Given the description of an element on the screen output the (x, y) to click on. 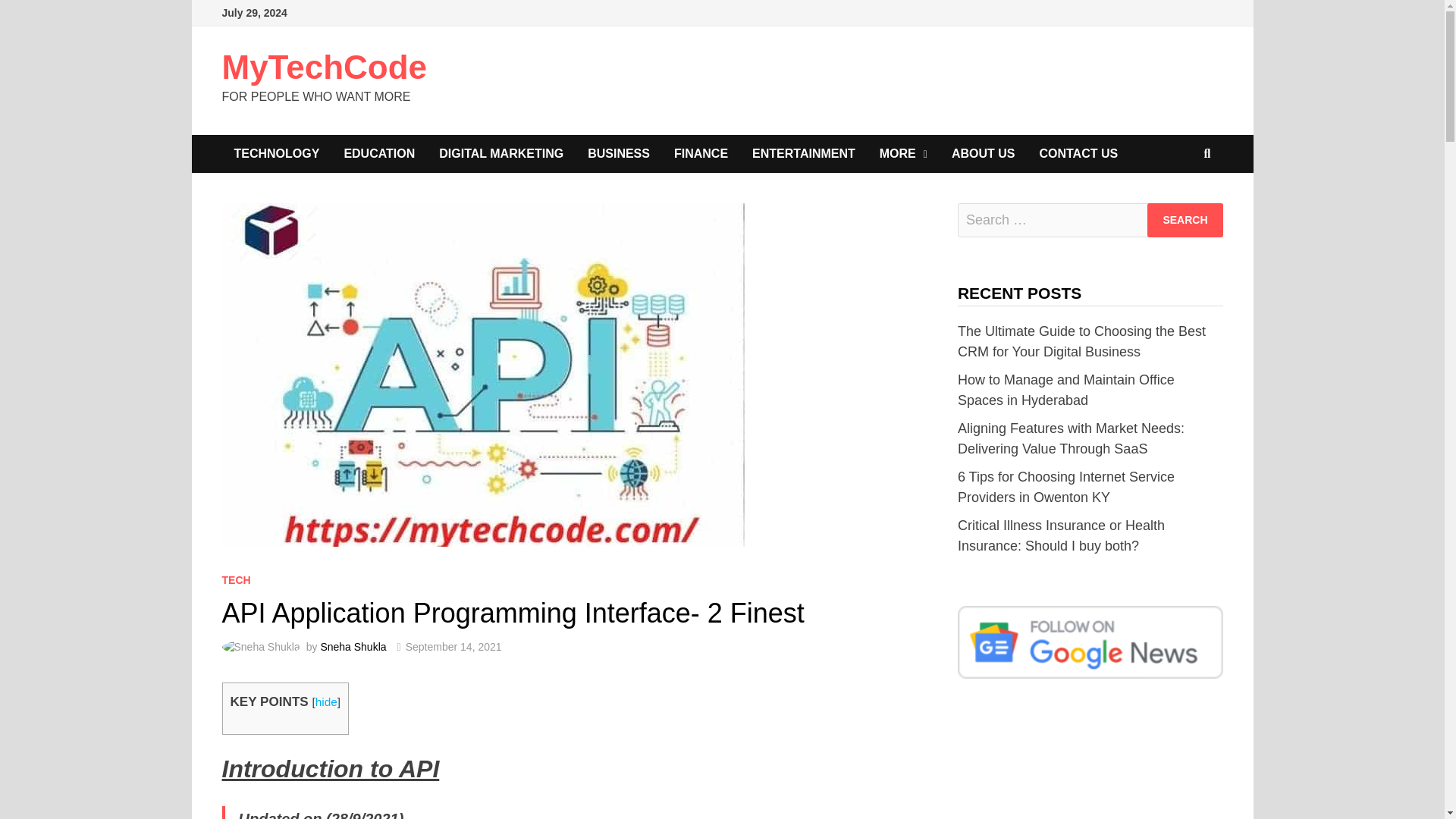
Search (1185, 220)
EDUCATION (378, 153)
FINANCE (700, 153)
MORE (903, 153)
September 14, 2021 (454, 646)
hide (326, 701)
MyTechCode (323, 66)
BUSINESS (618, 153)
DIGITAL MARKETING (500, 153)
ABOUT US (983, 153)
ENTERTAINMENT (803, 153)
Search (1185, 220)
Sneha Shukla (352, 646)
TECH (235, 580)
TECHNOLOGY (276, 153)
